Given the description of an element on the screen output the (x, y) to click on. 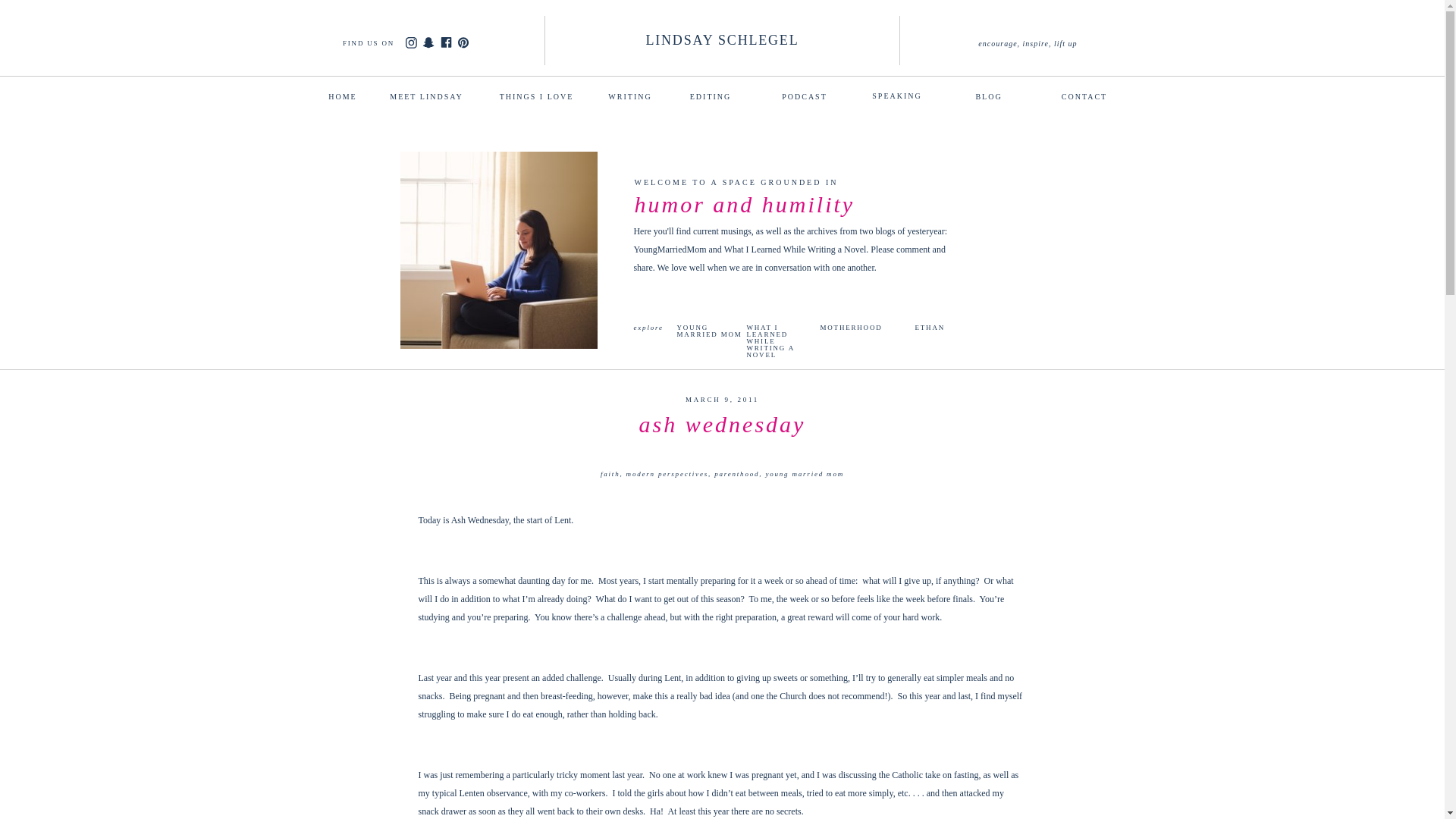
Instagram-color Created with Sketch. (410, 42)
EDITING (709, 95)
YOUNG MARRIED MOM (709, 331)
LINDSAY SCHLEGEL (721, 44)
young married mom (804, 473)
Snapchat-color Created with Sketch. (427, 42)
Facebook Copy-color Created with Sketch. (446, 42)
WHAT I LEARNED WHILE WRITING A NOVEL (778, 331)
encourage, inspire, lift up (1027, 42)
MEET LINDSAY (426, 95)
